Given the description of an element on the screen output the (x, y) to click on. 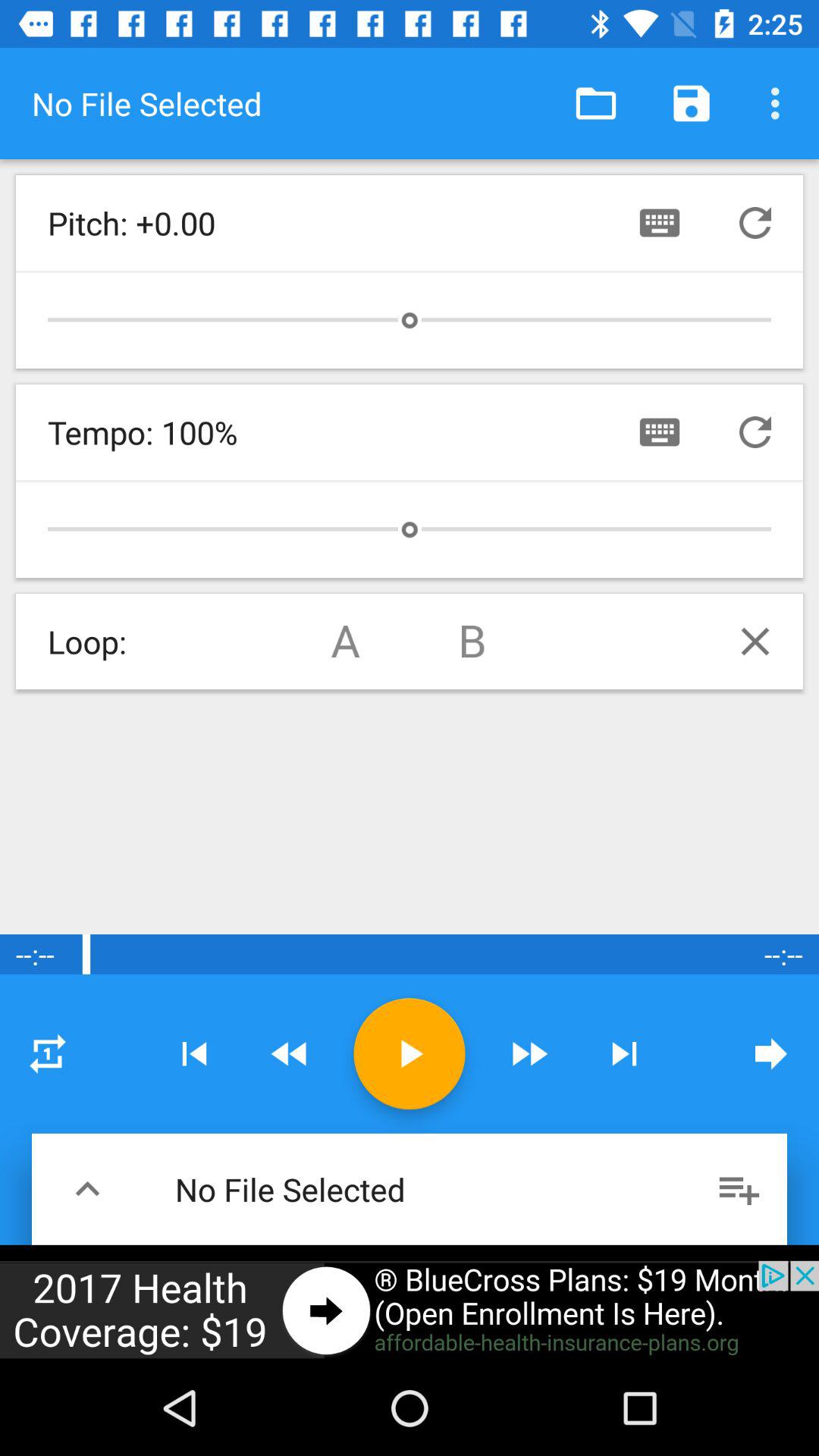
exit loop (755, 641)
